Given the description of an element on the screen output the (x, y) to click on. 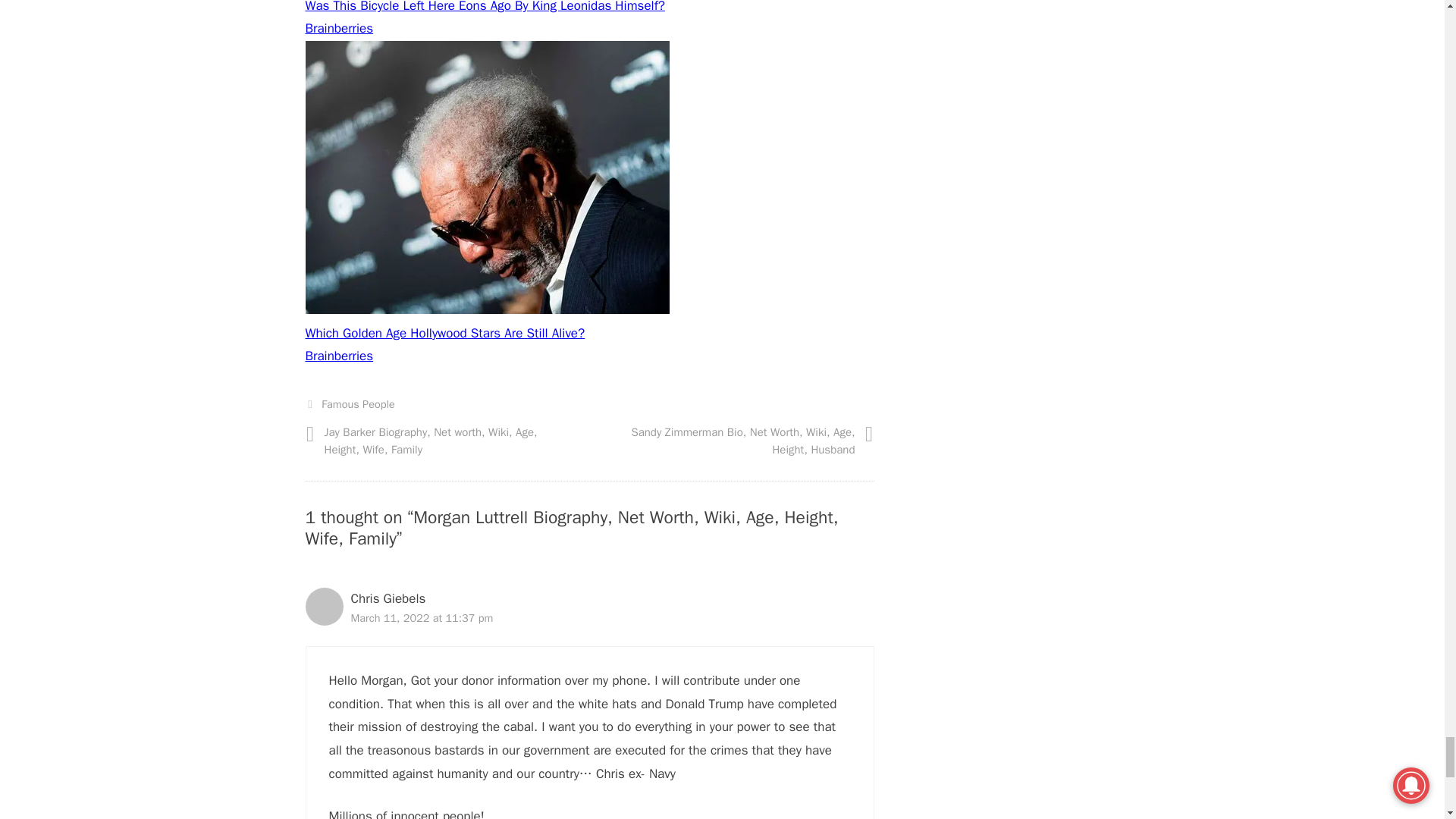
Famous People (357, 404)
